Given the description of an element on the screen output the (x, y) to click on. 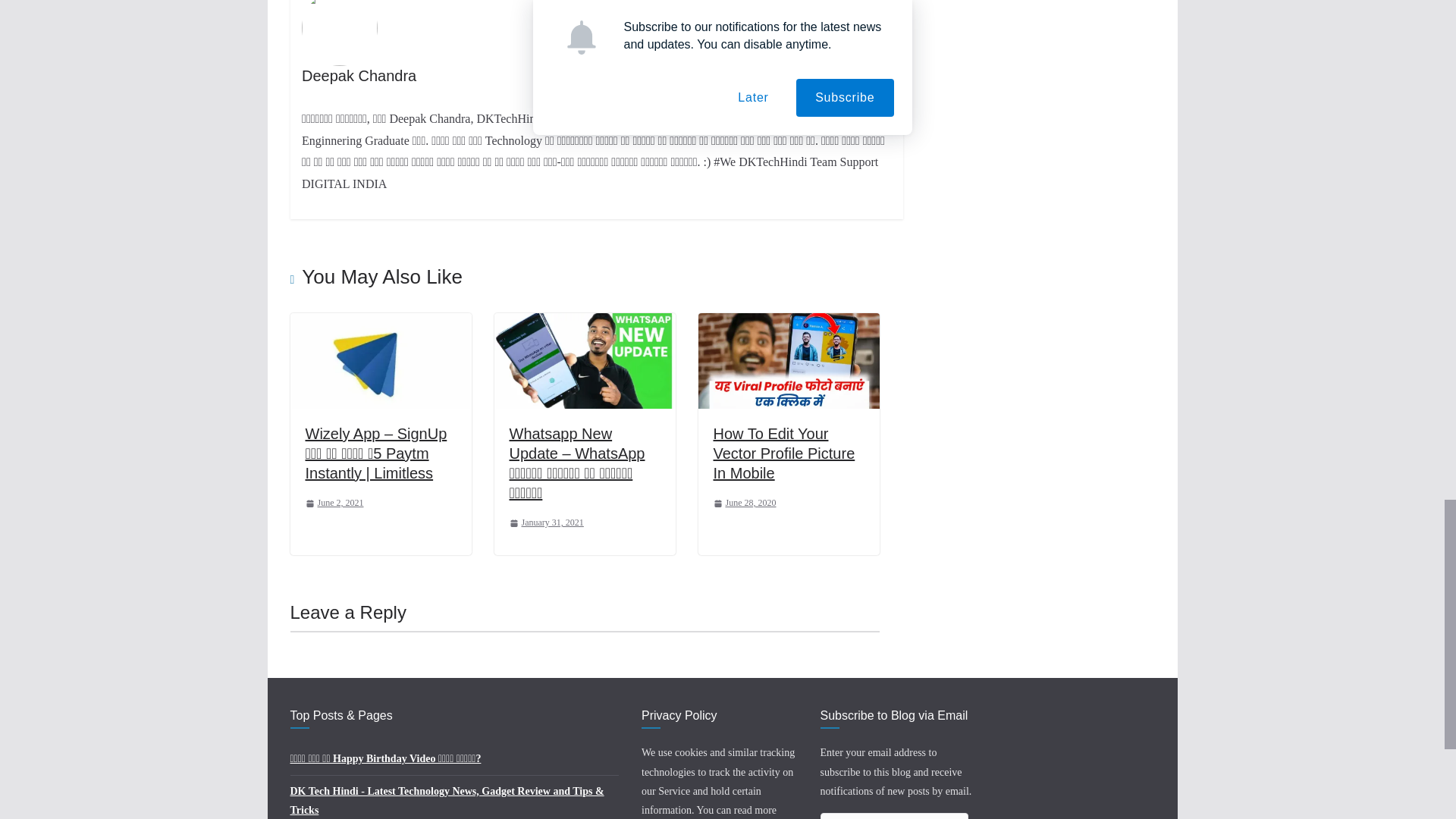
January 31, 2021 (546, 523)
June 2, 2021 (333, 503)
